Given the description of an element on the screen output the (x, y) to click on. 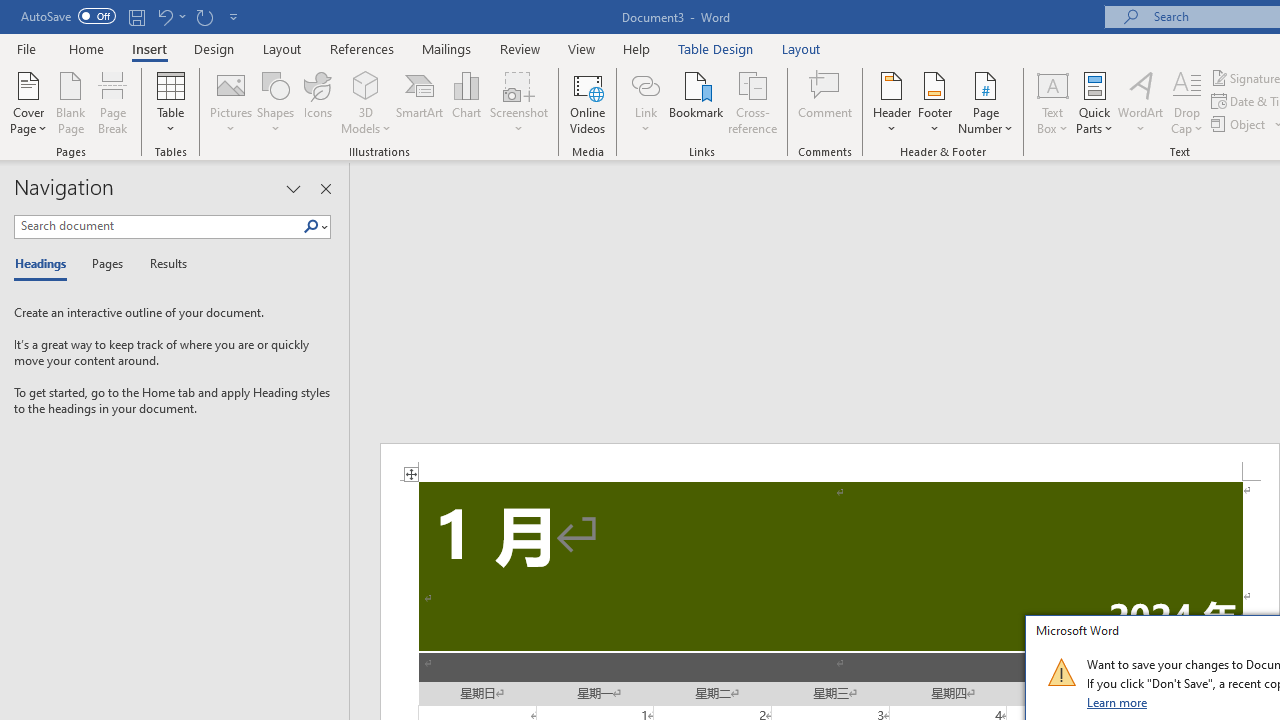
Link (645, 84)
Pages (105, 264)
View (582, 48)
Blank Page (70, 102)
Undo Increase Indent (164, 15)
Close pane (325, 188)
Quick Access Toolbar (131, 16)
Icons (317, 102)
Help (637, 48)
3D Models (366, 84)
Repeat Doc Close (204, 15)
Layout (801, 48)
Review (520, 48)
SmartArt... (419, 102)
